Given the description of an element on the screen output the (x, y) to click on. 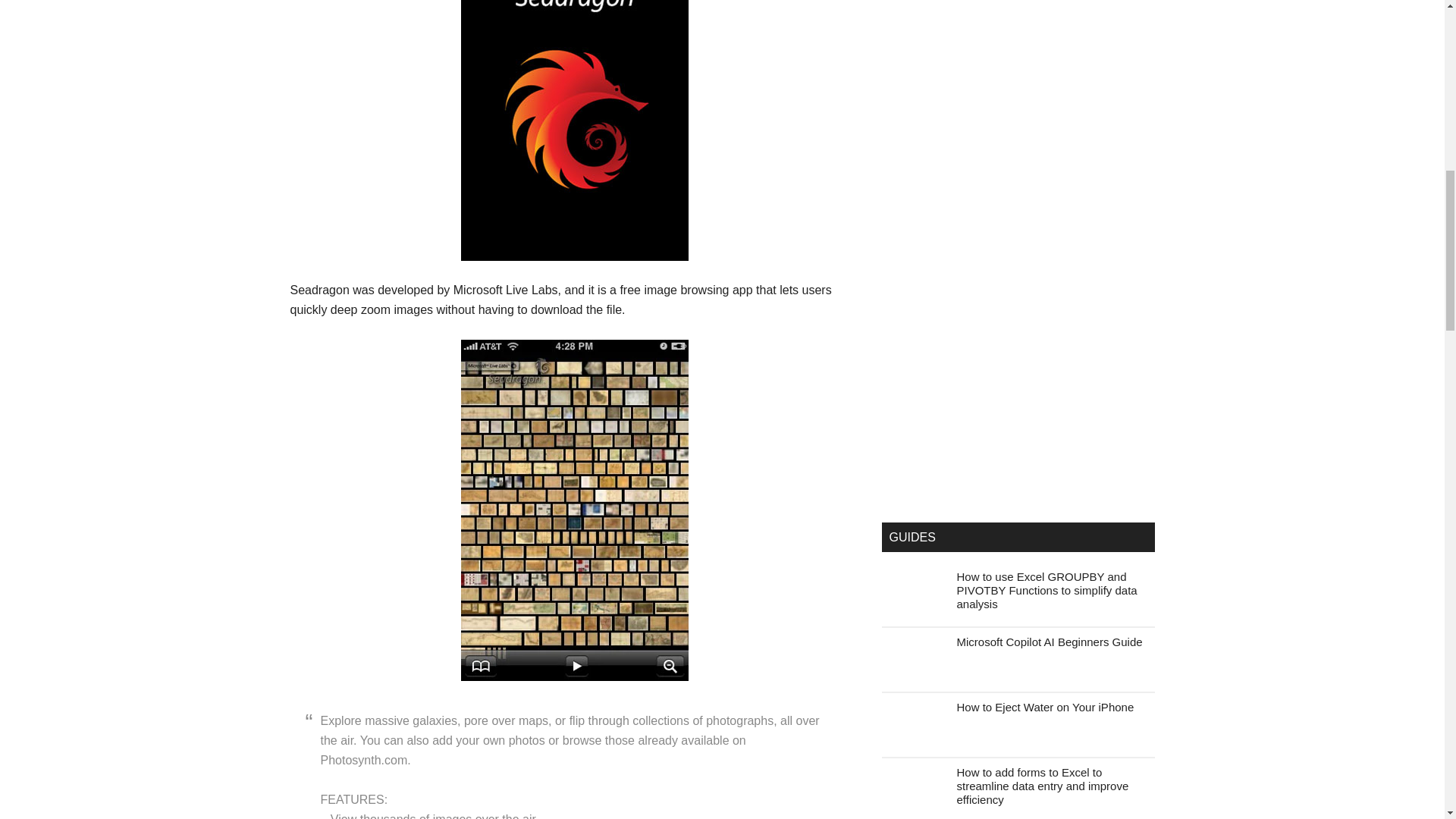
seadragon-iphone2 (574, 509)
seadragon-iphone (574, 130)
